Given the description of an element on the screen output the (x, y) to click on. 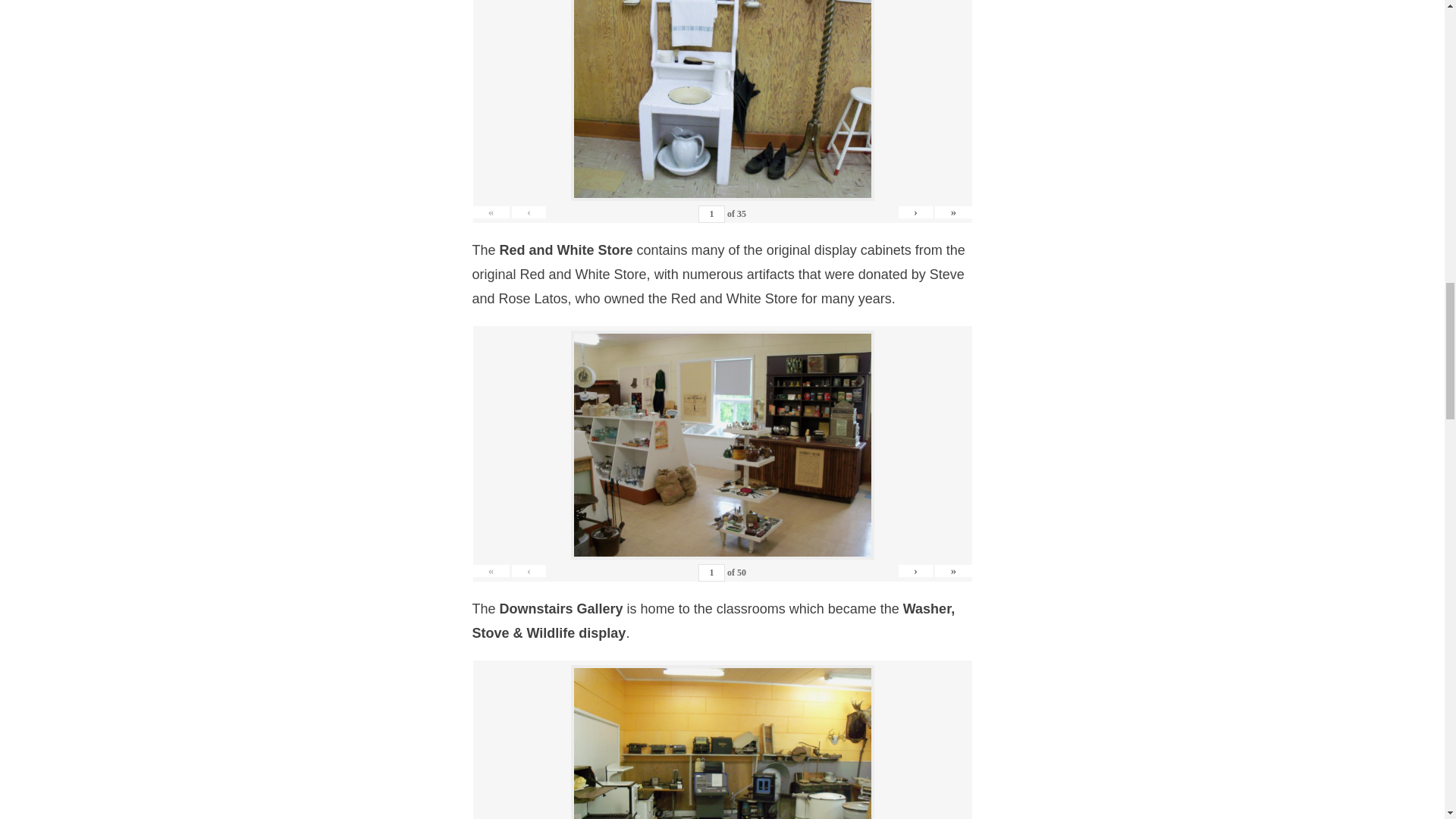
1 (711, 213)
100 0581 (721, 99)
Go to the first page (491, 212)
1 (711, 572)
